Given the description of an element on the screen output the (x, y) to click on. 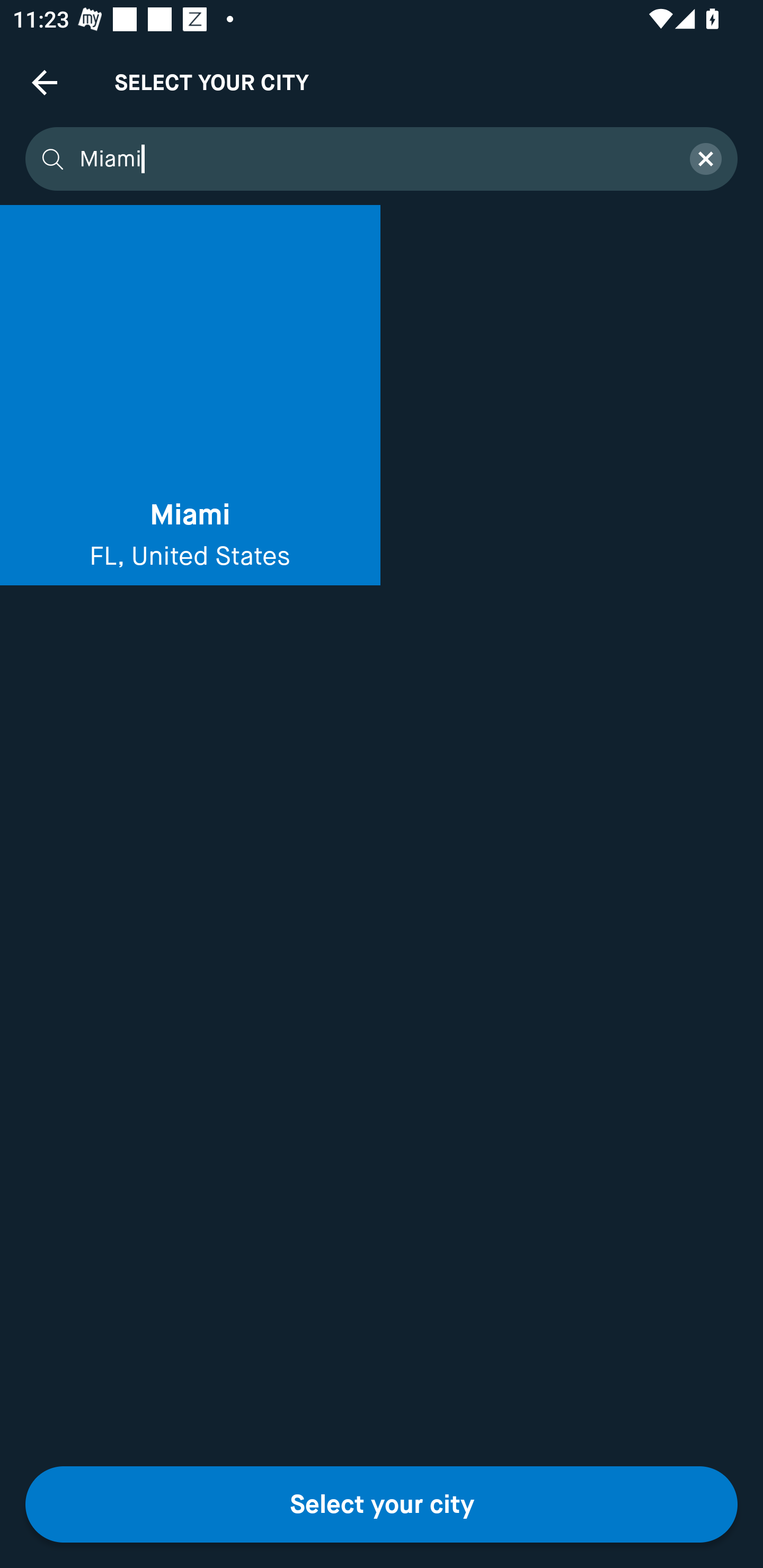
Navigate up (44, 82)
Miami (373, 159)
Miami FL, United States (190, 394)
Select your city (381, 1504)
